Given the description of an element on the screen output the (x, y) to click on. 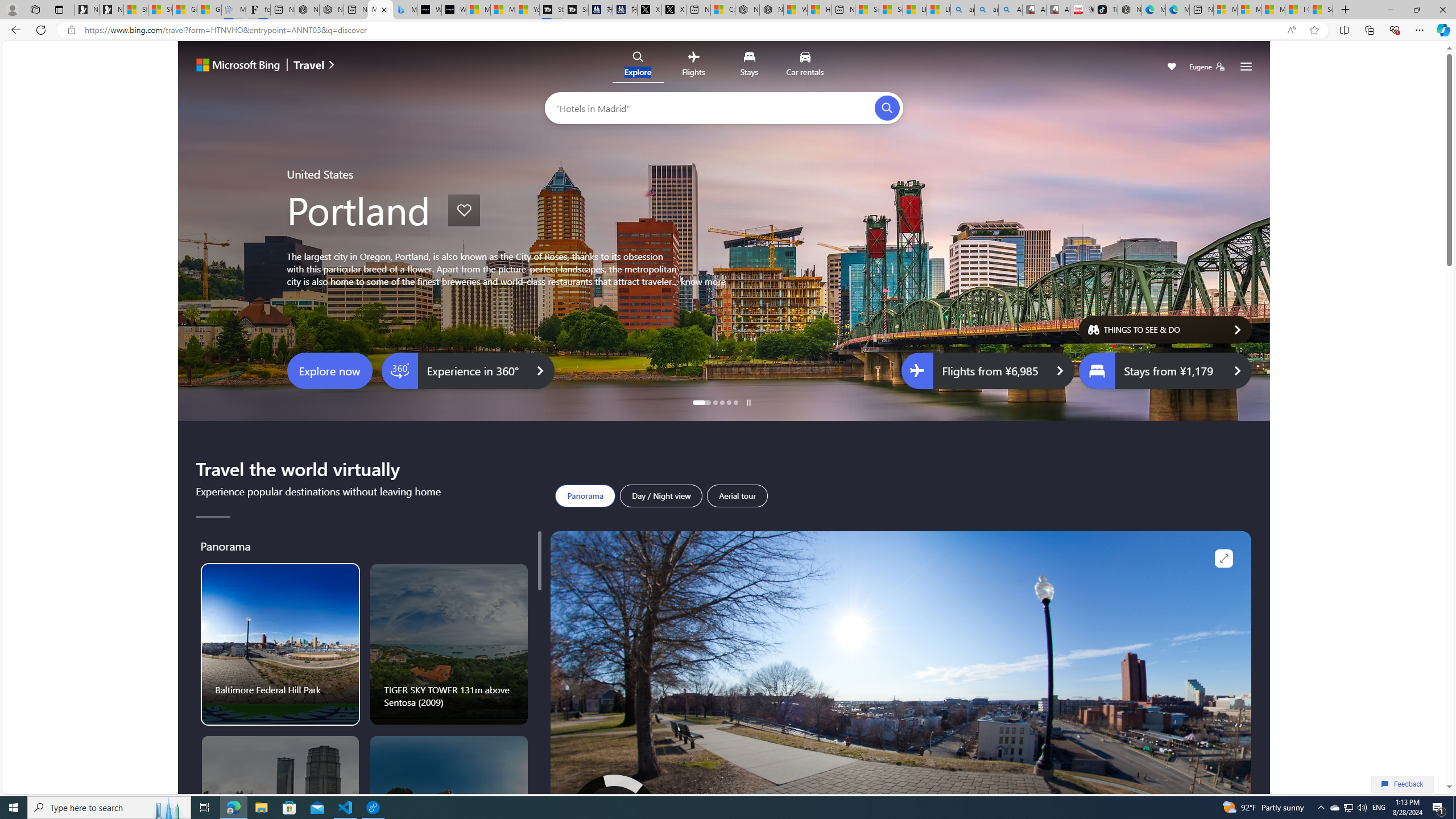
Save (1171, 67)
Class: autosuggest-container full-height no-y-padding (715, 107)
Microsoft Start (1273, 9)
TikTok (1105, 9)
Huge shark washes ashore at New York City beach | Watch (818, 9)
Nordace - Summer Adventures 2024 (770, 9)
Microsoft Bing Travel - Shangri-La Hotel Bangkok (404, 9)
What's the best AI voice generator? - voice.ai (453, 9)
TIGER SKY TOWER 131m above Sentosa (2009) (449, 644)
Add this page to favorites (Ctrl+D) (1314, 29)
Explore now (329, 370)
